Given the description of an element on the screen output the (x, y) to click on. 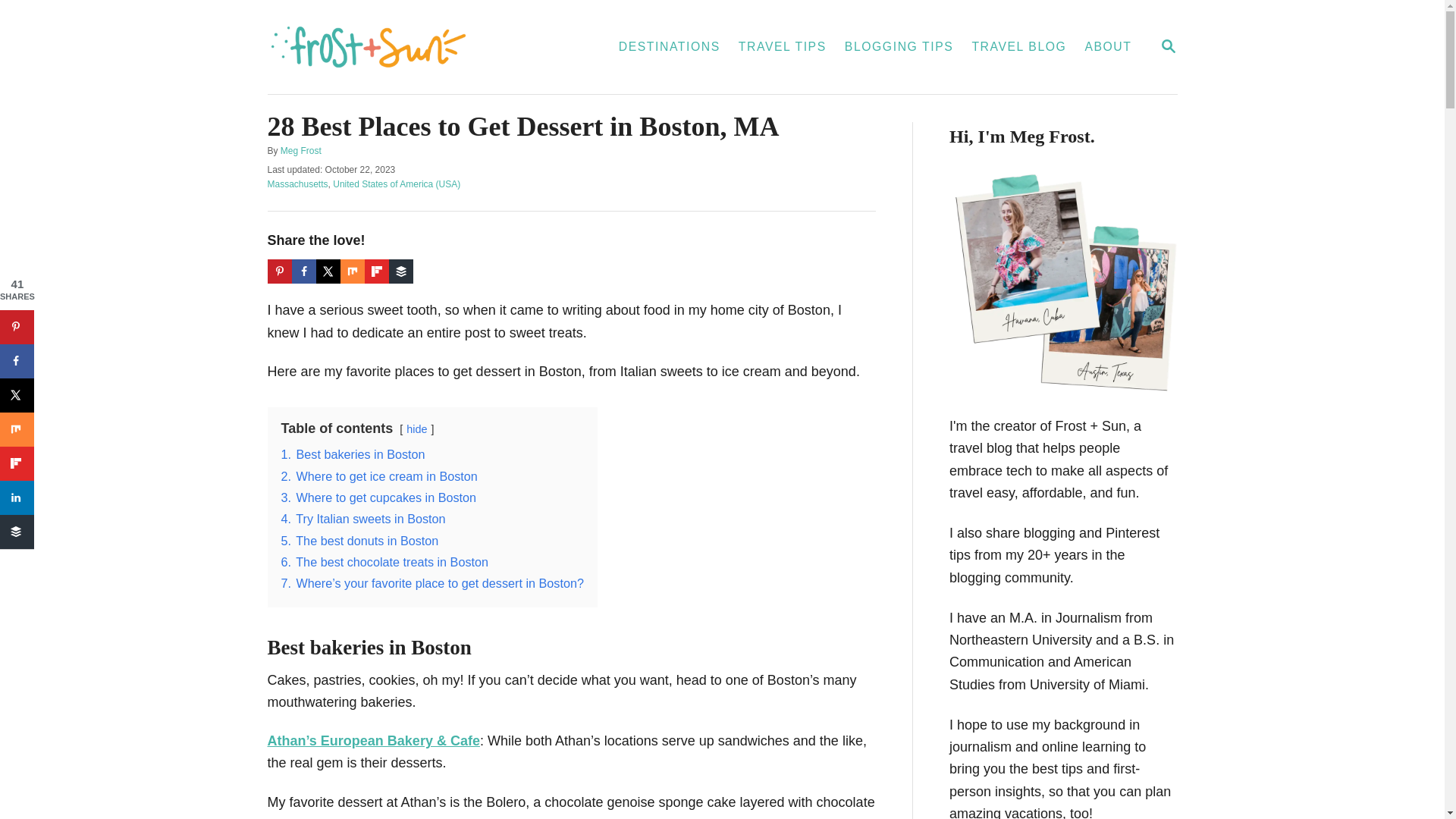
Share on Mix (16, 429)
Share on Flipboard (16, 463)
3. Where to get cupcakes in Boston (378, 497)
Save to Pinterest (16, 326)
Share on Buffer (400, 271)
Massachusetts (296, 184)
DESTINATIONS (669, 46)
4. Try Italian sweets in Boston (363, 518)
TRAVEL TIPS (782, 46)
Share on Facebook (1168, 46)
Meg Frost (303, 271)
2. Where to get ice cream in Boston (301, 150)
Share on X (379, 476)
Share on Mix (327, 271)
